Given the description of an element on the screen output the (x, y) to click on. 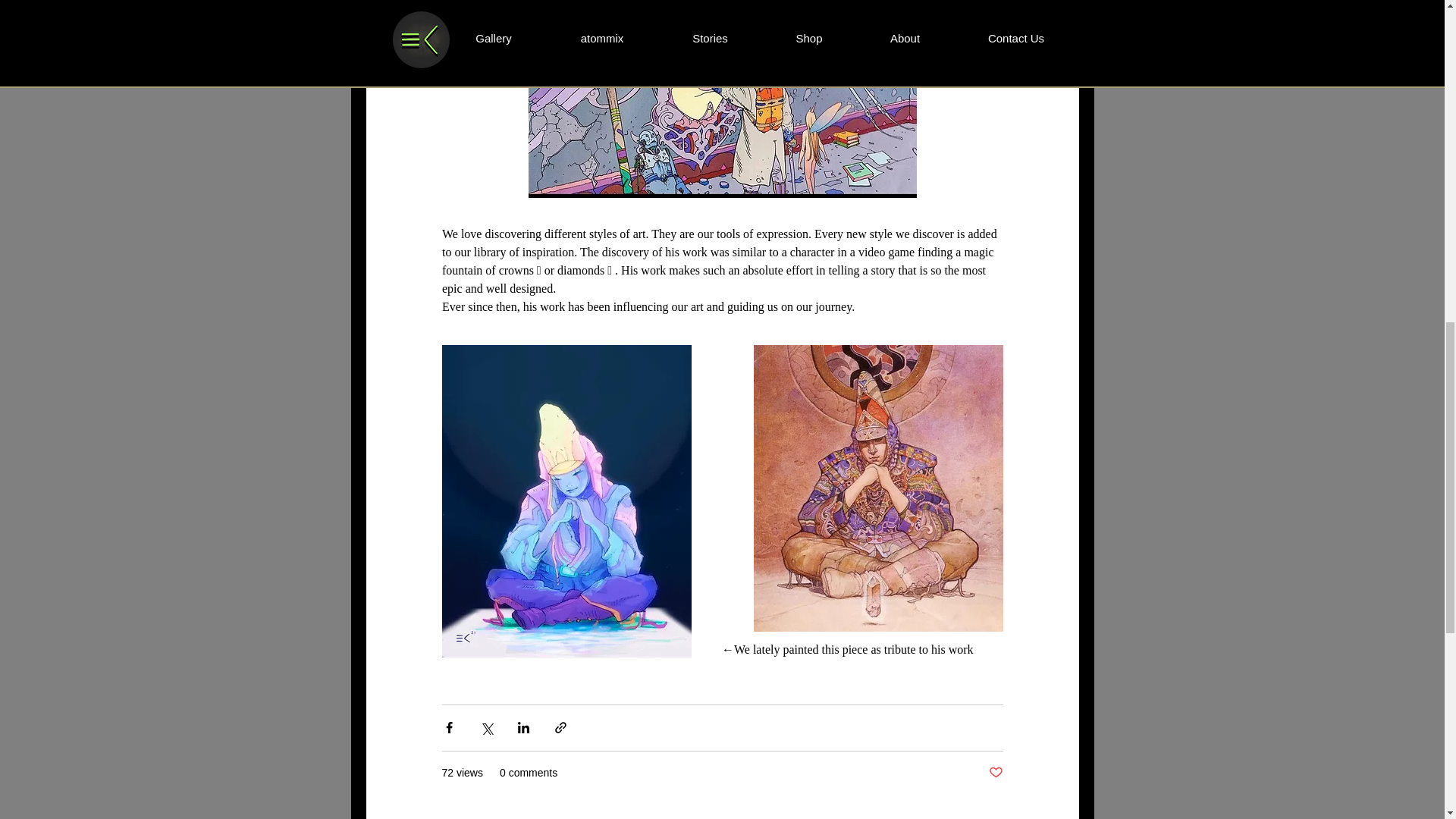
Post not marked as liked (995, 772)
